Given the description of an element on the screen output the (x, y) to click on. 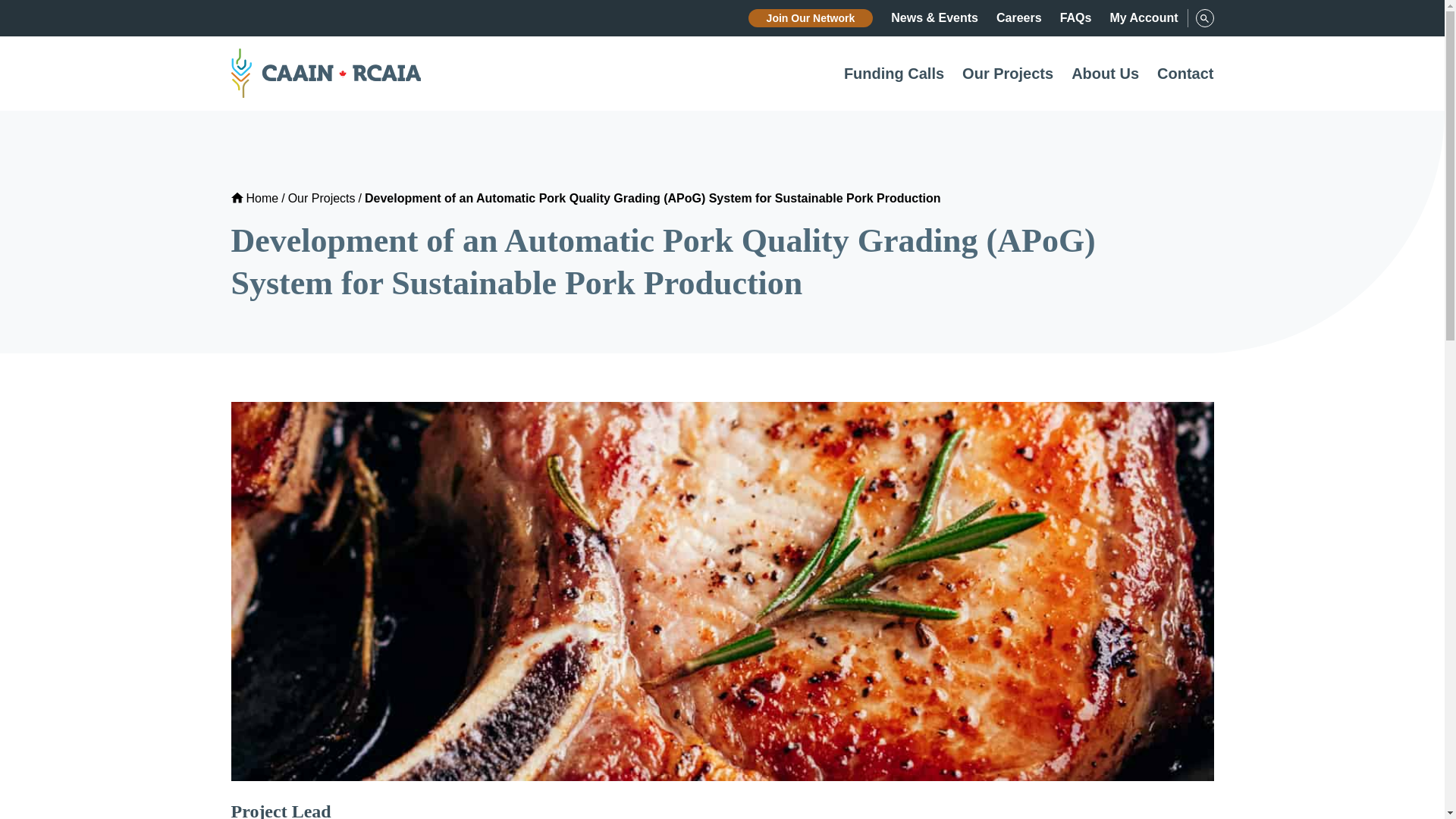
Our Projects (1007, 73)
Careers (1018, 17)
Open Search (1203, 18)
Contact (1184, 73)
Go to CAAIN. (254, 197)
My Account (1143, 17)
FAQs (1075, 17)
Go to Our Projects. (321, 197)
About Us (1104, 73)
Join Our Network (810, 18)
Funding Calls (893, 73)
Our Projects (321, 197)
Home (254, 197)
